Given the description of an element on the screen output the (x, y) to click on. 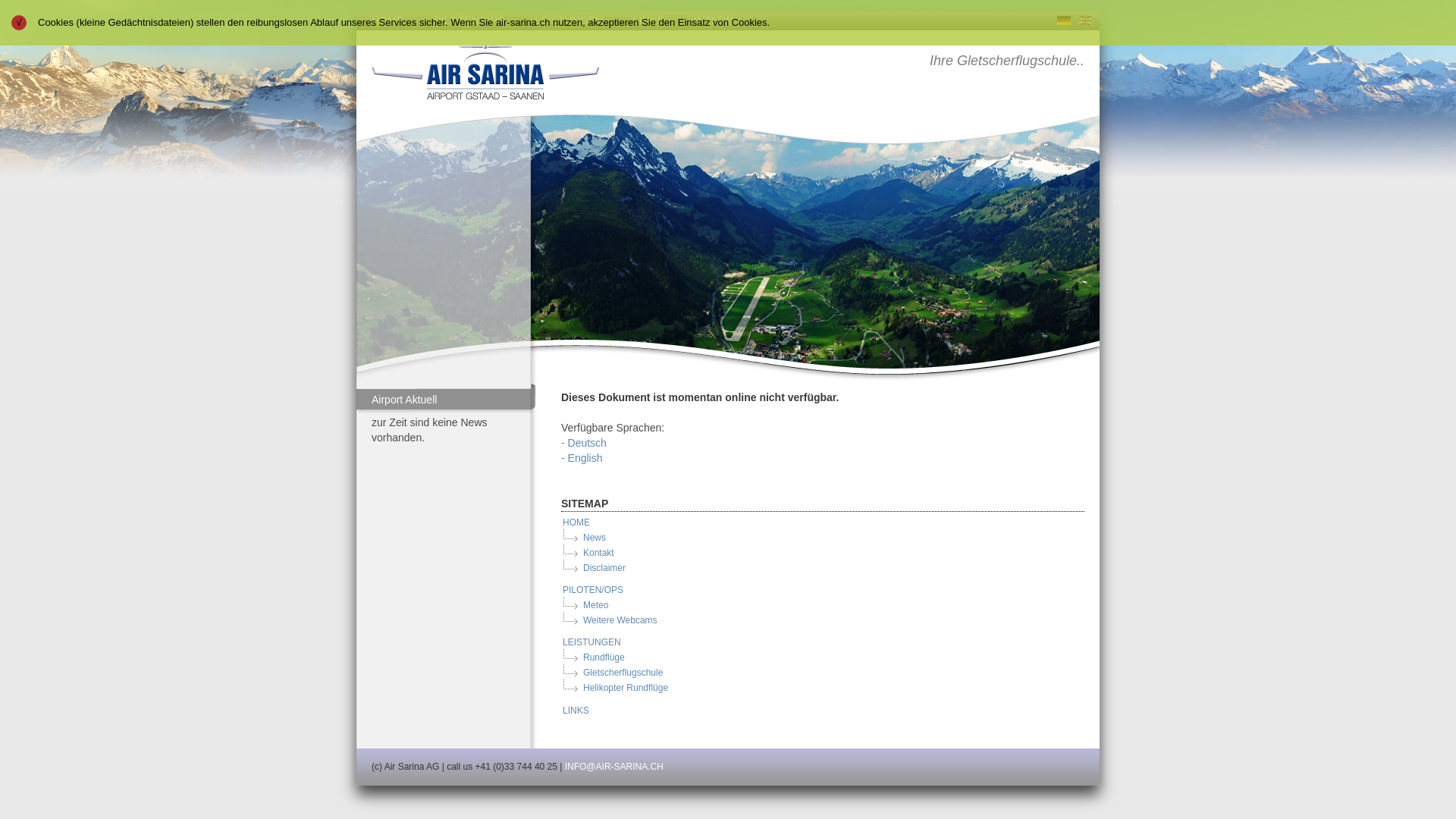
englisch Element type: hover (1085, 20)
LEISTUNGEN Element type: text (591, 642)
Meteo Element type: text (594, 604)
LEISTUNGEN Element type: text (568, 20)
PILOTEN/OPS Element type: text (592, 589)
- English Element type: text (581, 457)
INTERN Element type: text (713, 20)
HOME Element type: text (387, 20)
INFO@AIR-SARINA.CH Element type: text (613, 766)
PILOTEN/OPS Element type: text (468, 20)
News Element type: text (593, 537)
Weitere Webcams Element type: text (619, 620)
HOME Element type: text (575, 522)
deutsch Element type: hover (1063, 20)
LINKS Element type: text (648, 20)
- Deutsch Element type: text (583, 442)
LINKS Element type: text (575, 710)
Disclaimer Element type: text (603, 567)
Gletscherflugschule Element type: text (621, 672)
Kontakt Element type: text (597, 552)
